Given the description of an element on the screen output the (x, y) to click on. 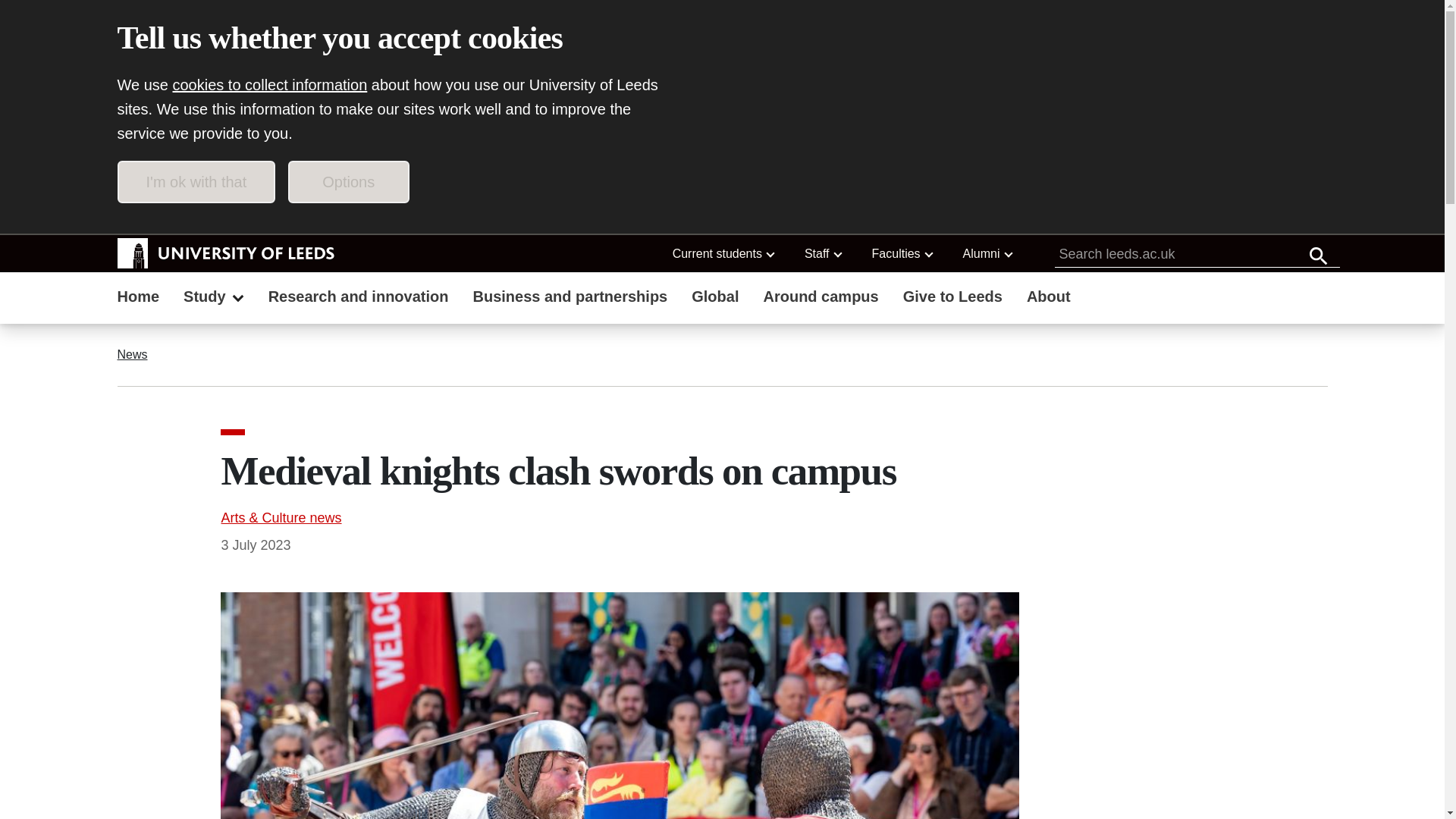
I'm ok with that (195, 181)
Faculties (902, 253)
Study (213, 297)
Skip to main content (202, 216)
Options (348, 181)
Research and innovation (358, 297)
Business and partnerships (569, 297)
Home (137, 297)
cookies to collect information (270, 84)
Global (715, 297)
